Given the description of an element on the screen output the (x, y) to click on. 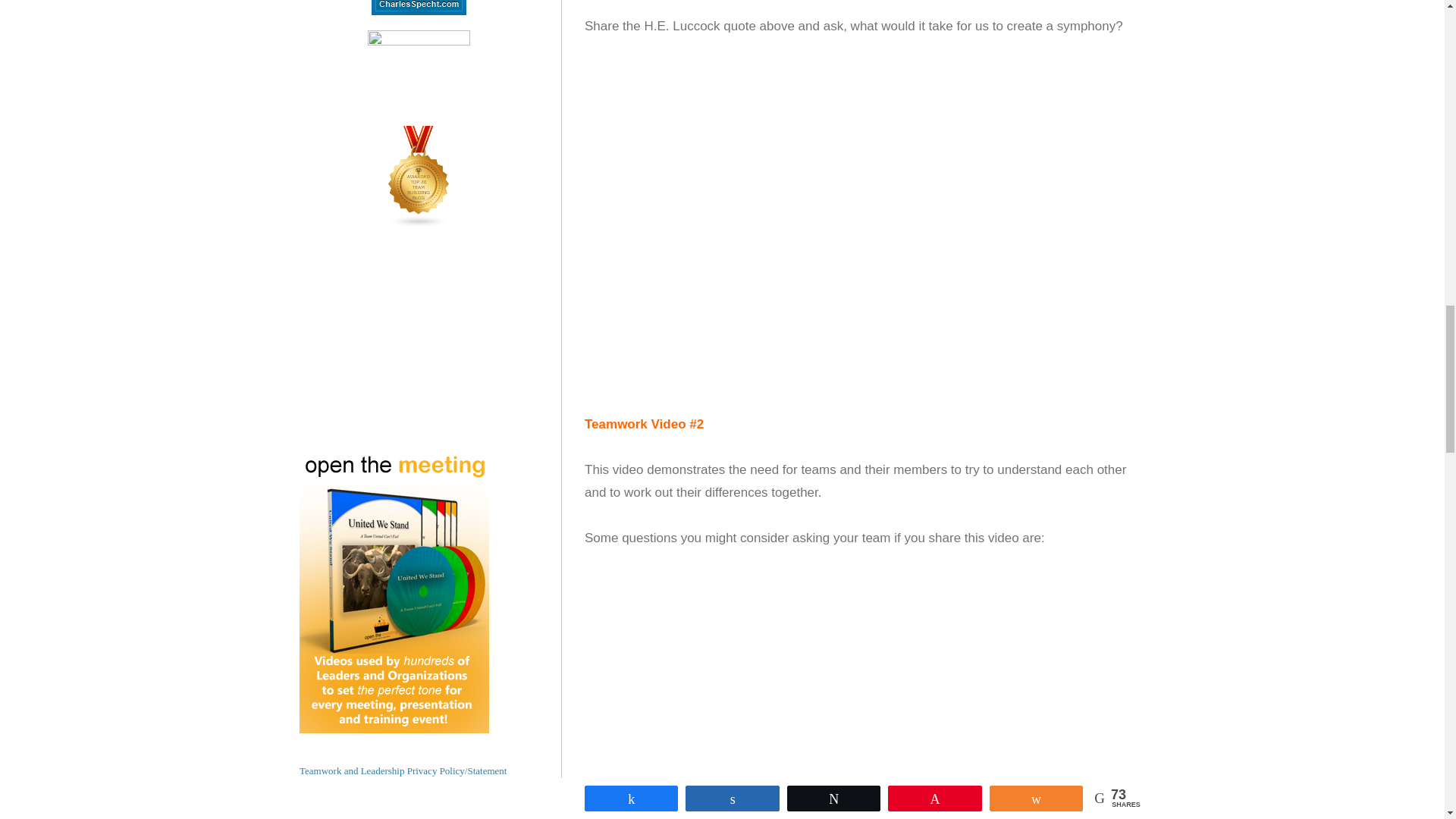
Advertisement (864, 678)
